Given the description of an element on the screen output the (x, y) to click on. 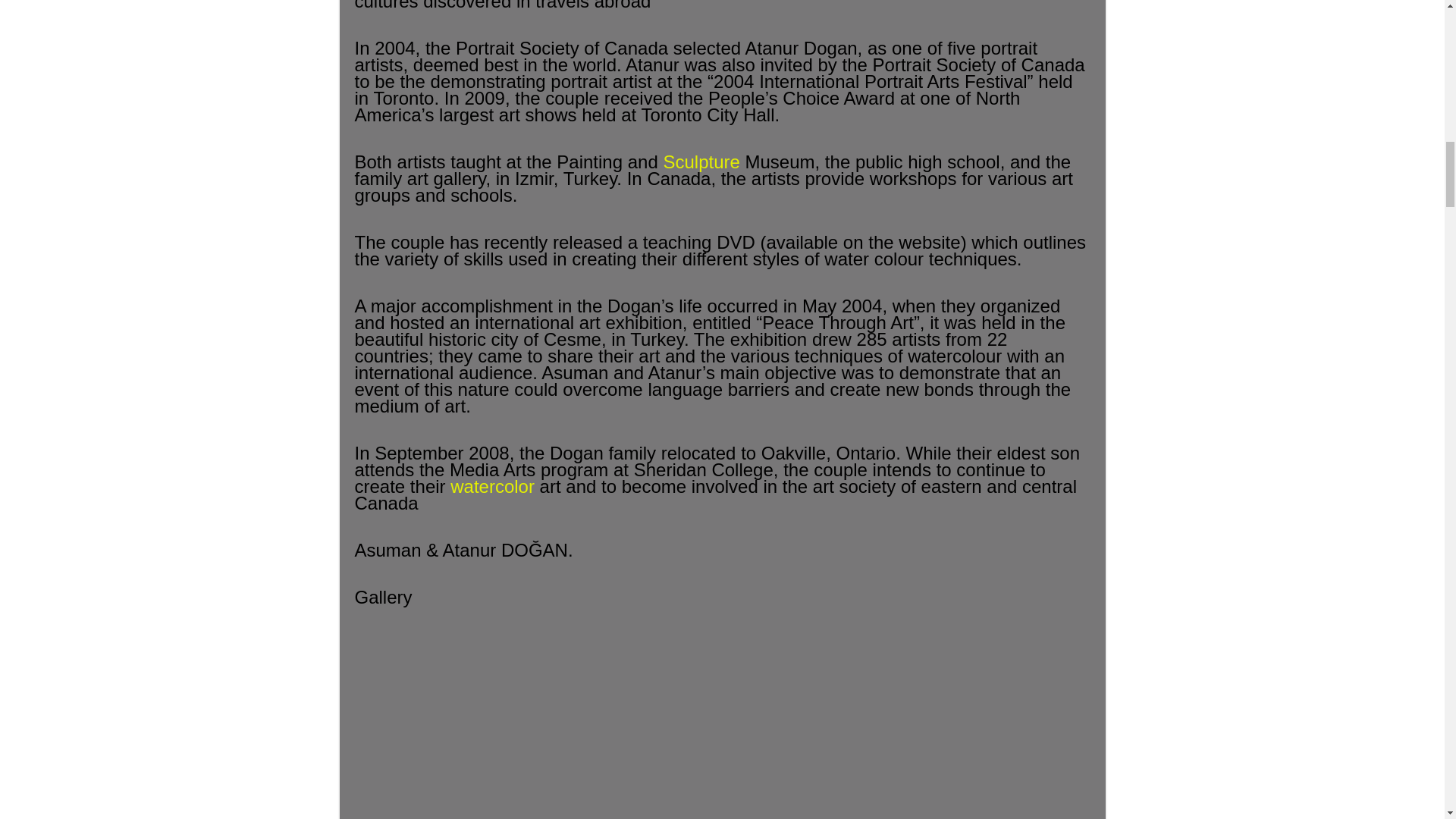
Sculpture (700, 161)
watercolor (491, 485)
